Given the description of an element on the screen output the (x, y) to click on. 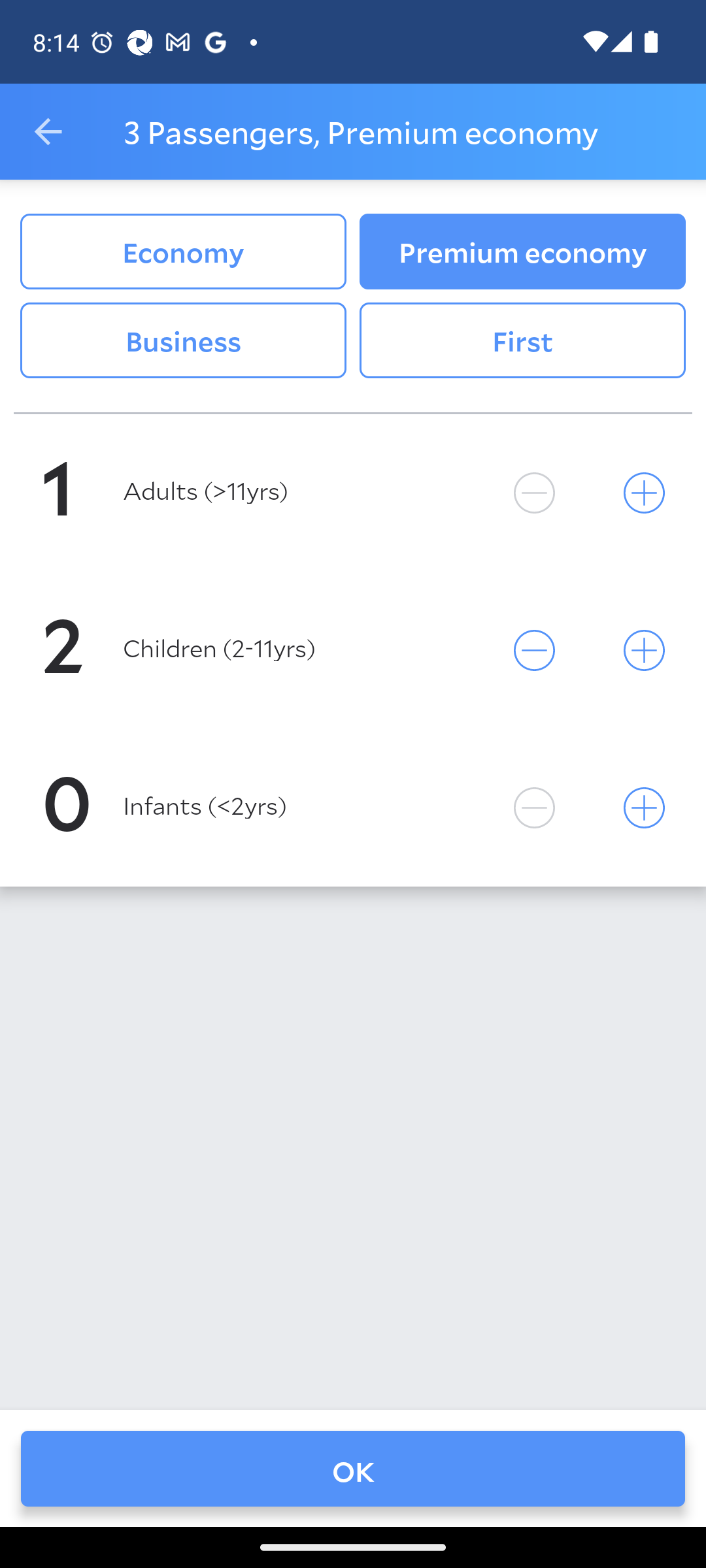
Navigate up (48, 131)
Economy (183, 251)
Premium economy (522, 251)
Business (183, 339)
First (522, 339)
OK (352, 1468)
